Given the description of an element on the screen output the (x, y) to click on. 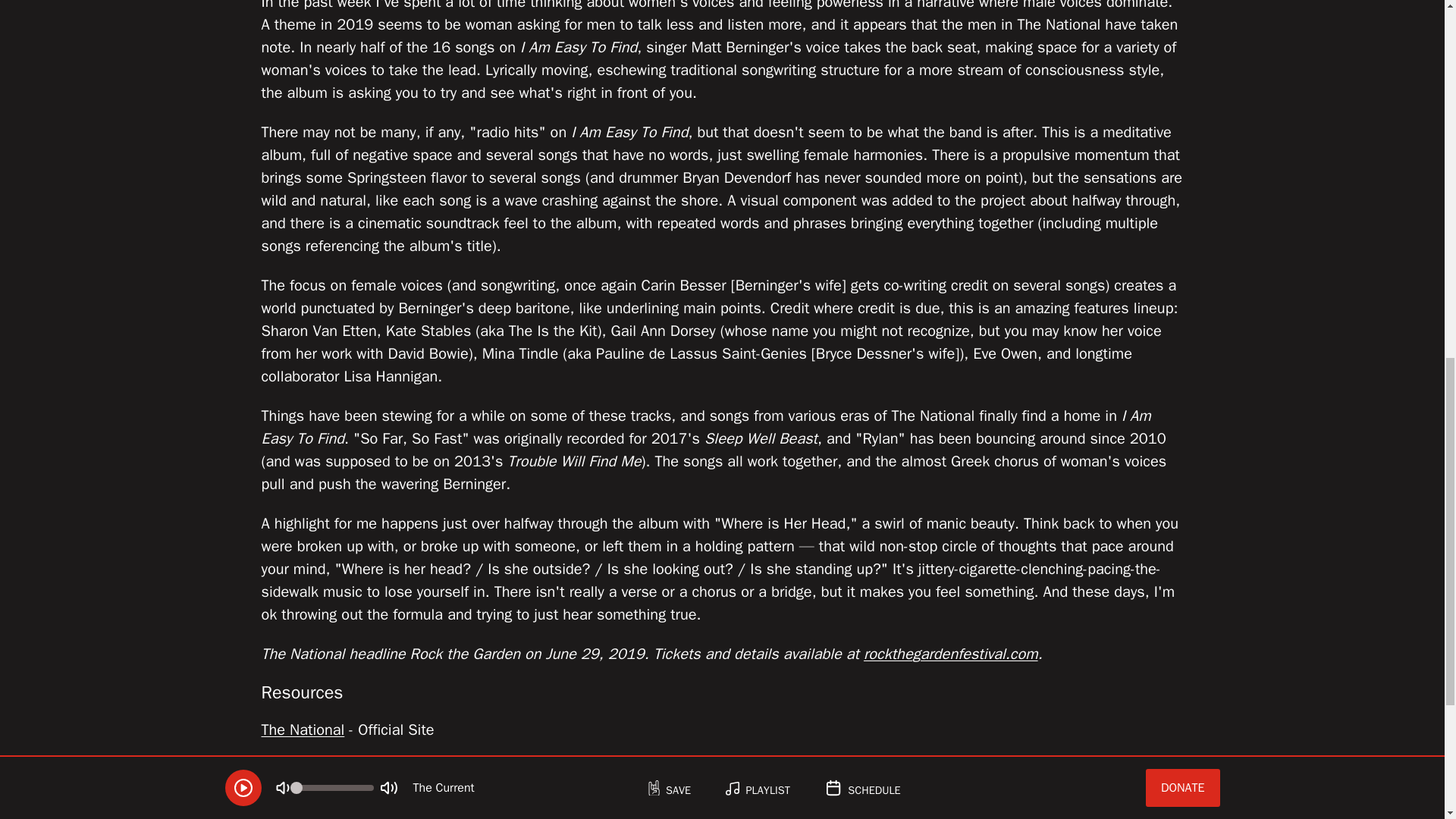
The National (301, 729)
Album of the Week: The National, 'Sleep Well Beast' (459, 810)
rockthegardenfestival.com (950, 653)
